Given the description of an element on the screen output the (x, y) to click on. 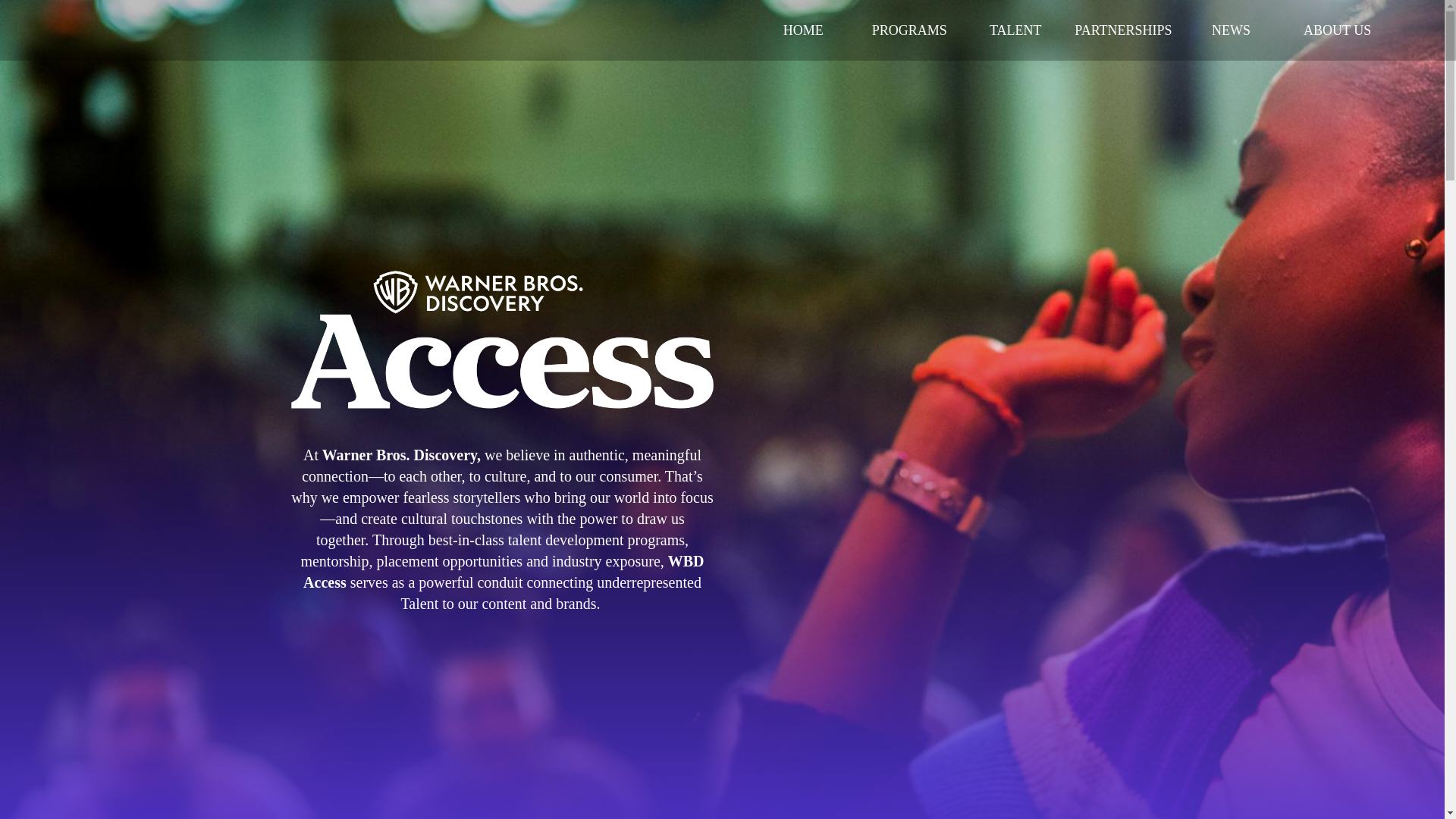
ABOUT US (1337, 30)
TALENT (1015, 30)
Welcome to Warner Media Access (502, 333)
HOME (802, 30)
PARTNERSHIPS (1122, 30)
NEWS (1230, 30)
PROGRAMS (909, 30)
